Given the description of an element on the screen output the (x, y) to click on. 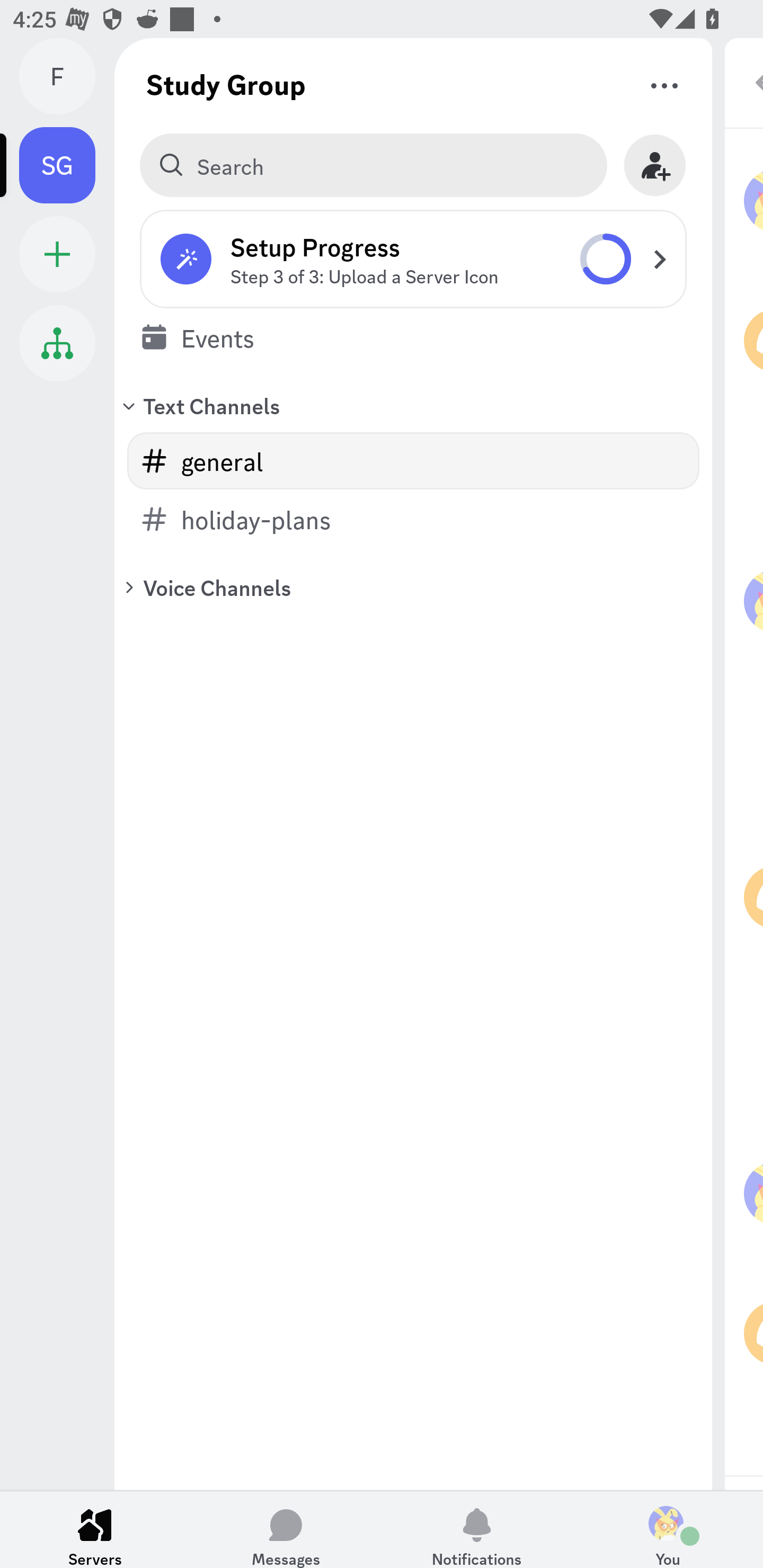
  Friends F (66, 75)
Study Group (226, 83)
  Study Group SG (66, 165)
Search (373, 165)
Invite (654, 165)
Add a Server (57, 253)
Student Hub (57, 343)
Events (413, 336)
Text Channels (412, 404)
general (text channel) general (413, 460)
holiday-plans (text channel) holiday-plans (413, 518)
Voice Channels (412, 586)
Servers (95, 1529)
Messages (285, 1529)
Notifications (476, 1529)
You (667, 1529)
